Given the description of an element on the screen output the (x, y) to click on. 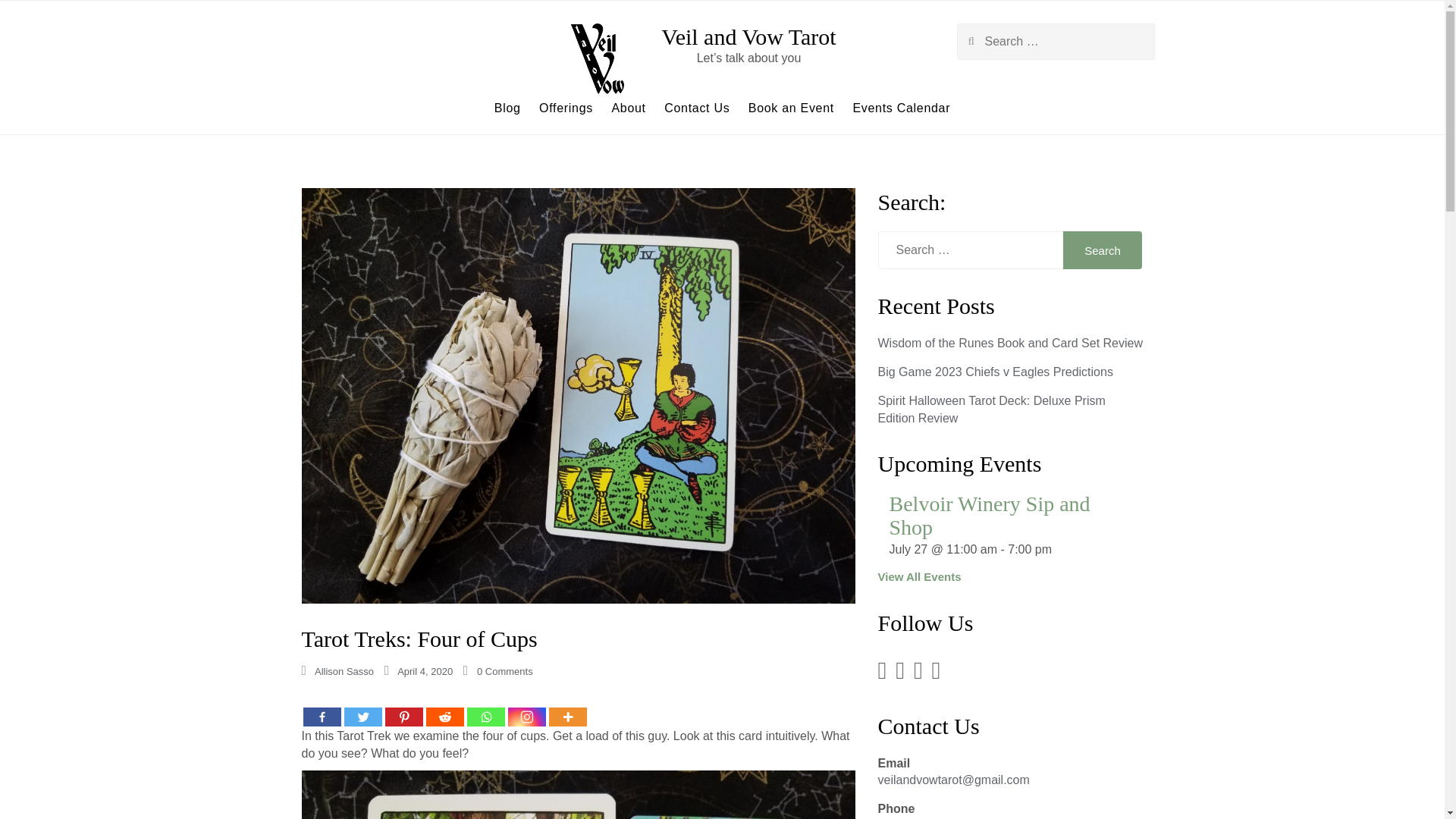
Search (29, 18)
Search (1102, 249)
April 4, 2020 (424, 671)
Events Calendar (901, 108)
Book an Event (791, 108)
Contact Us (696, 108)
Events Calendar (901, 108)
Twitter (362, 709)
Offerings (565, 108)
Facebook (321, 709)
Offerings (565, 108)
Contact Us (696, 108)
Veil and Vow Tarot (748, 36)
About (628, 108)
0 Comments (504, 671)
